Given the description of an element on the screen output the (x, y) to click on. 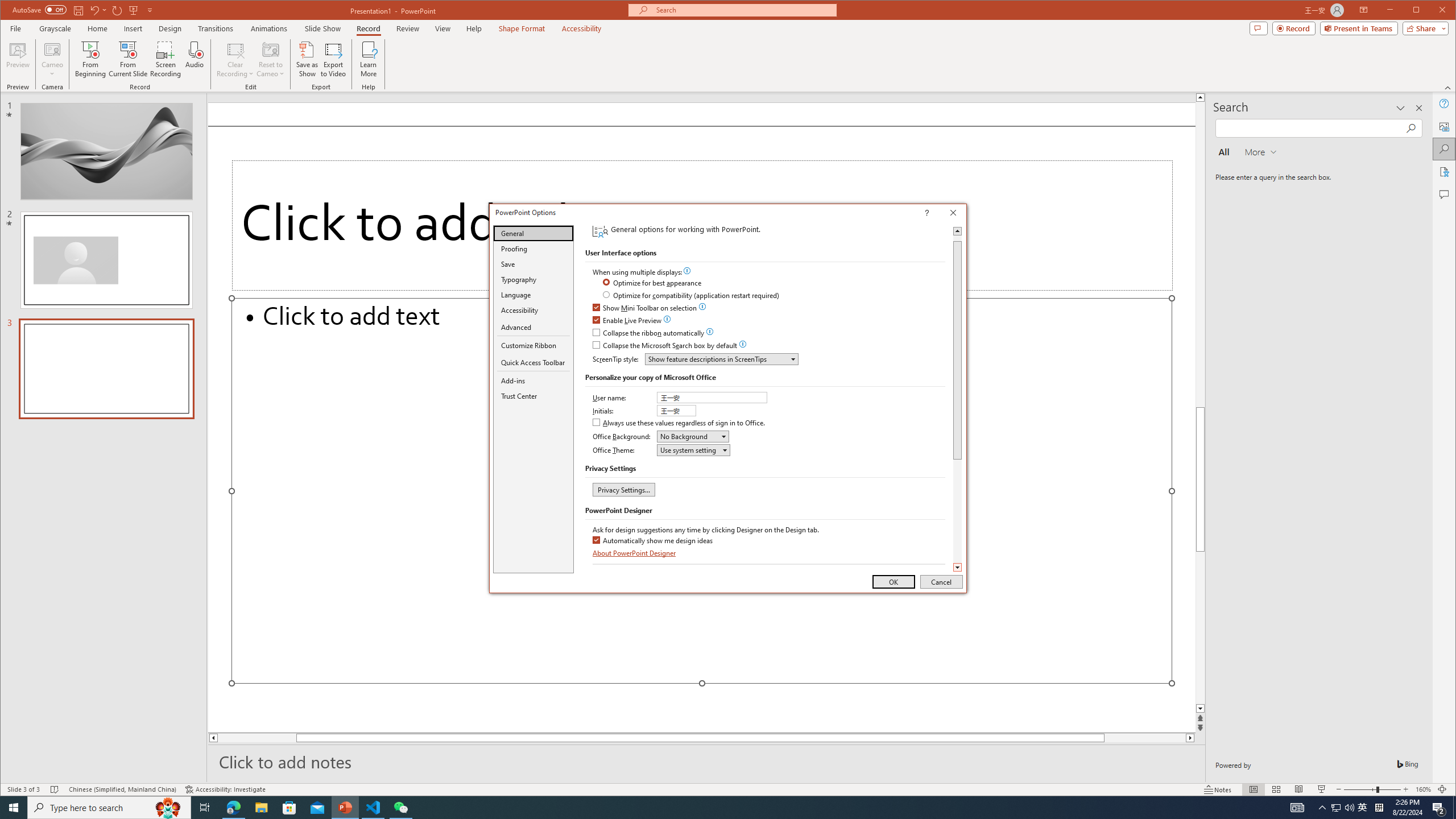
Initials (676, 410)
Enable Live Preview (627, 320)
Automatically show me design ideas (653, 540)
